Given the description of an element on the screen output the (x, y) to click on. 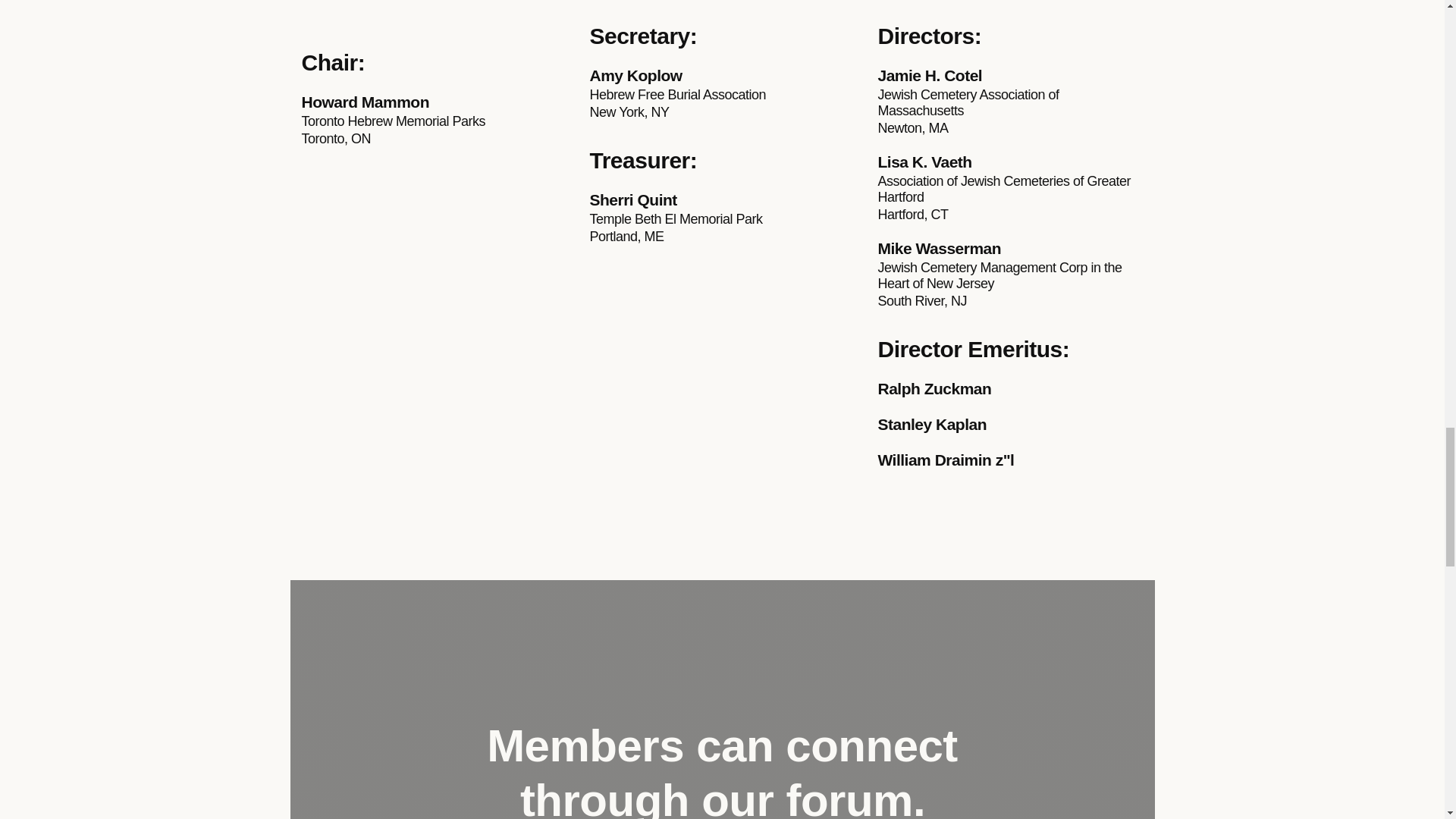
Howard Mammon (434, 101)
Sherri Quint (721, 199)
Amy Koplow (721, 75)
